Given the description of an element on the screen output the (x, y) to click on. 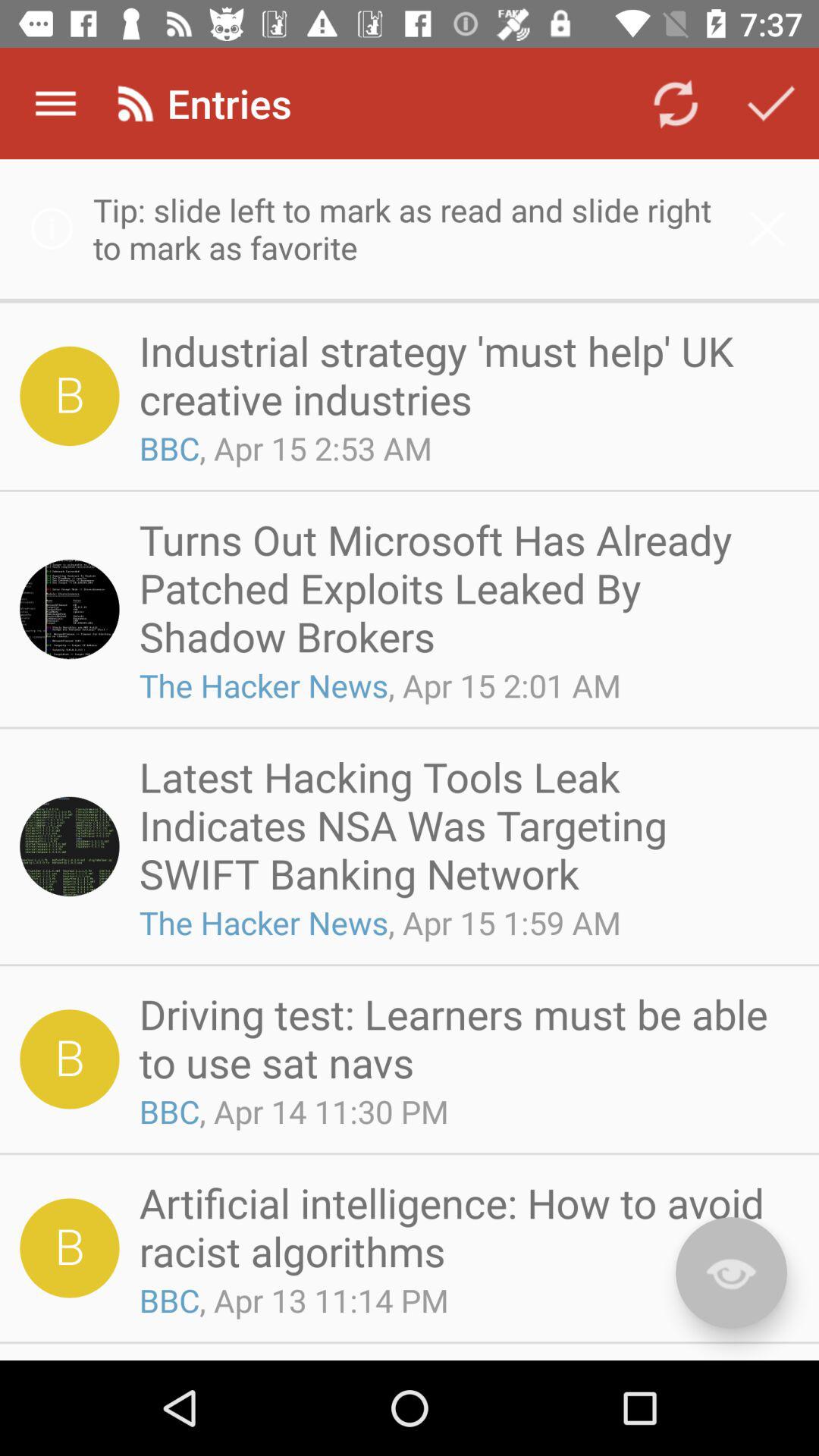
choose app above tip slide left app (55, 103)
